Given the description of an element on the screen output the (x, y) to click on. 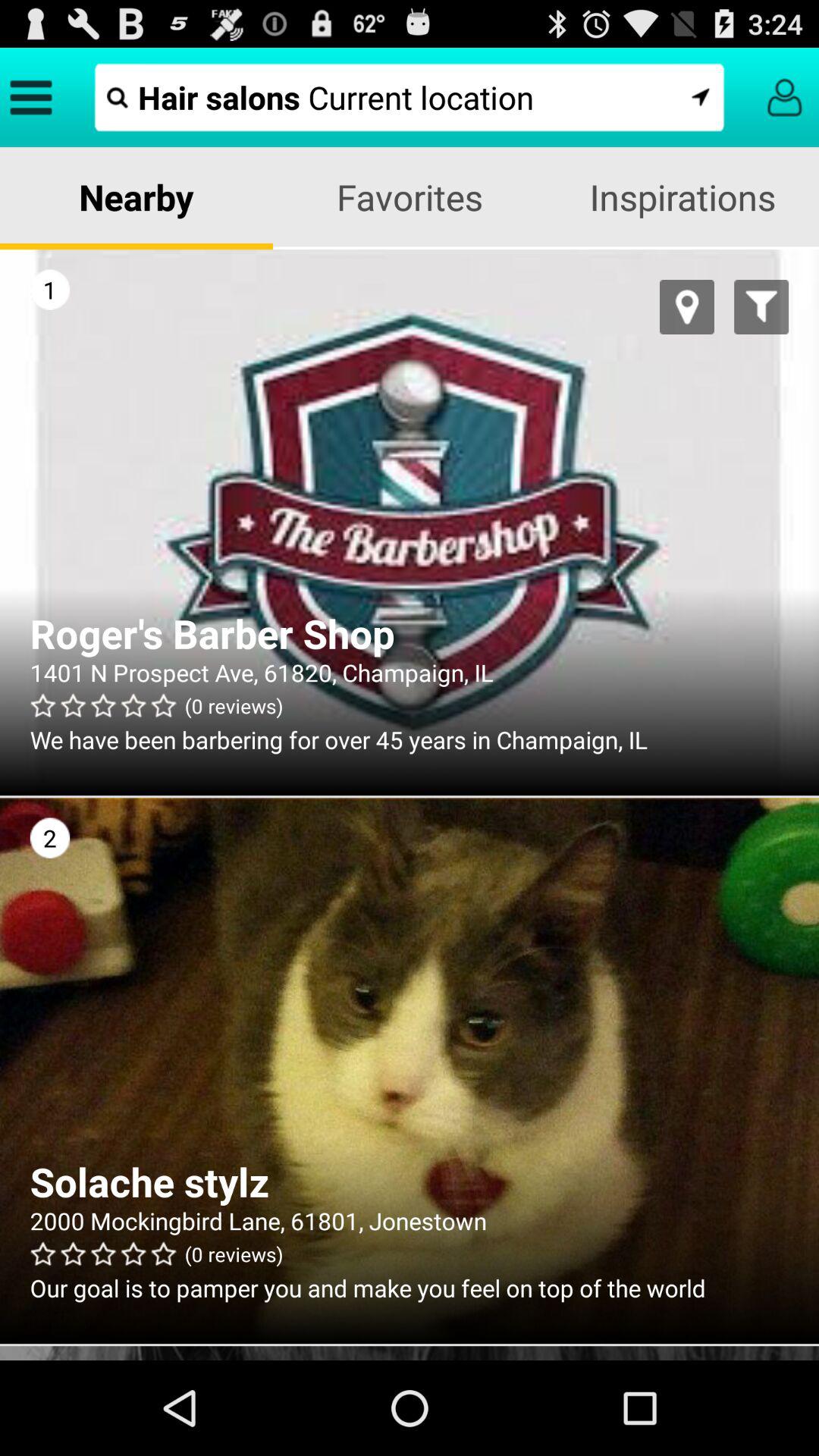
select app below the hair salons current app (136, 196)
